Given the description of an element on the screen output the (x, y) to click on. 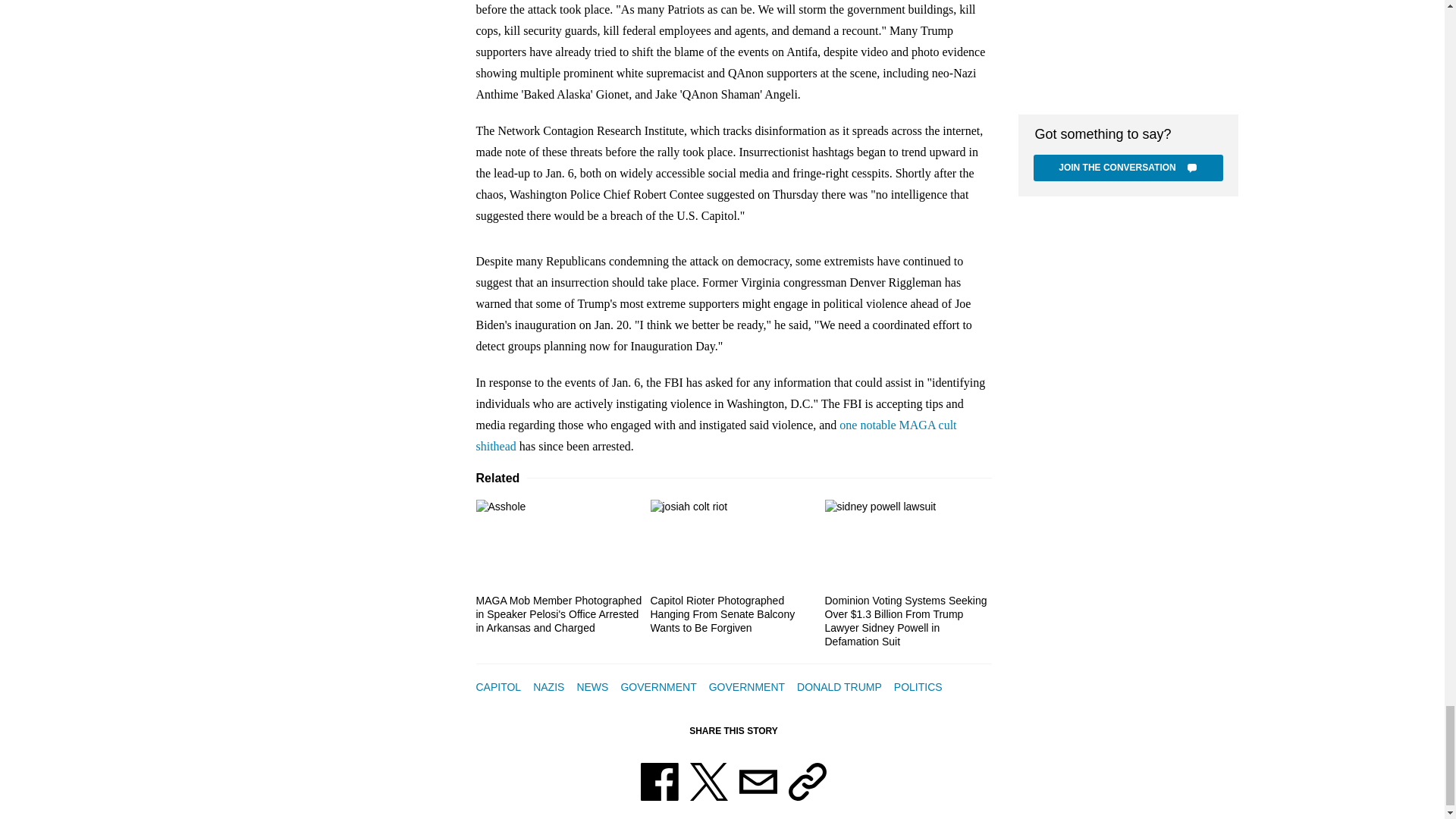
Facebook (659, 781)
Twitter (709, 781)
